Given the description of an element on the screen output the (x, y) to click on. 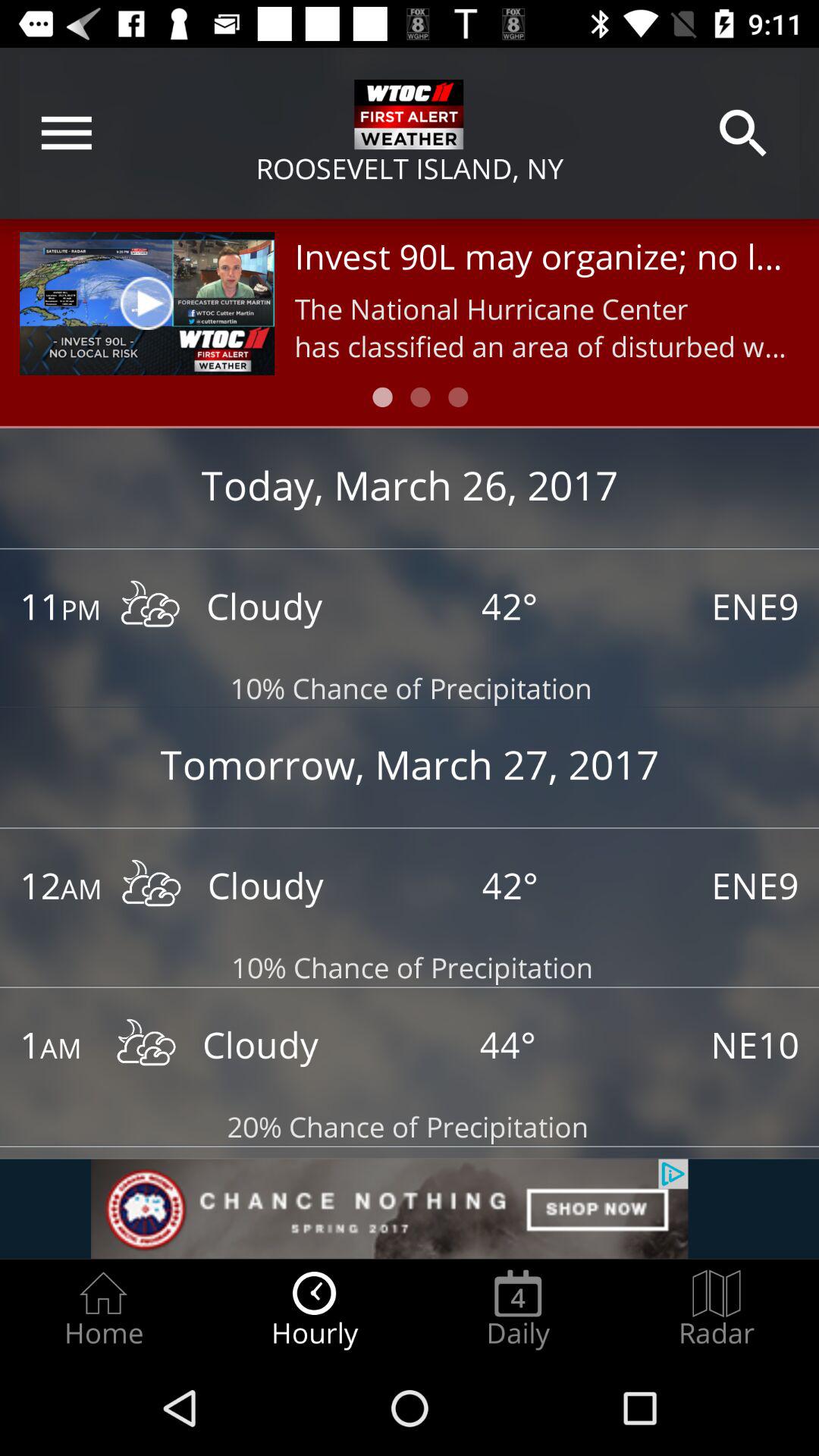
go to advertisement (409, 1208)
